Given the description of an element on the screen output the (x, y) to click on. 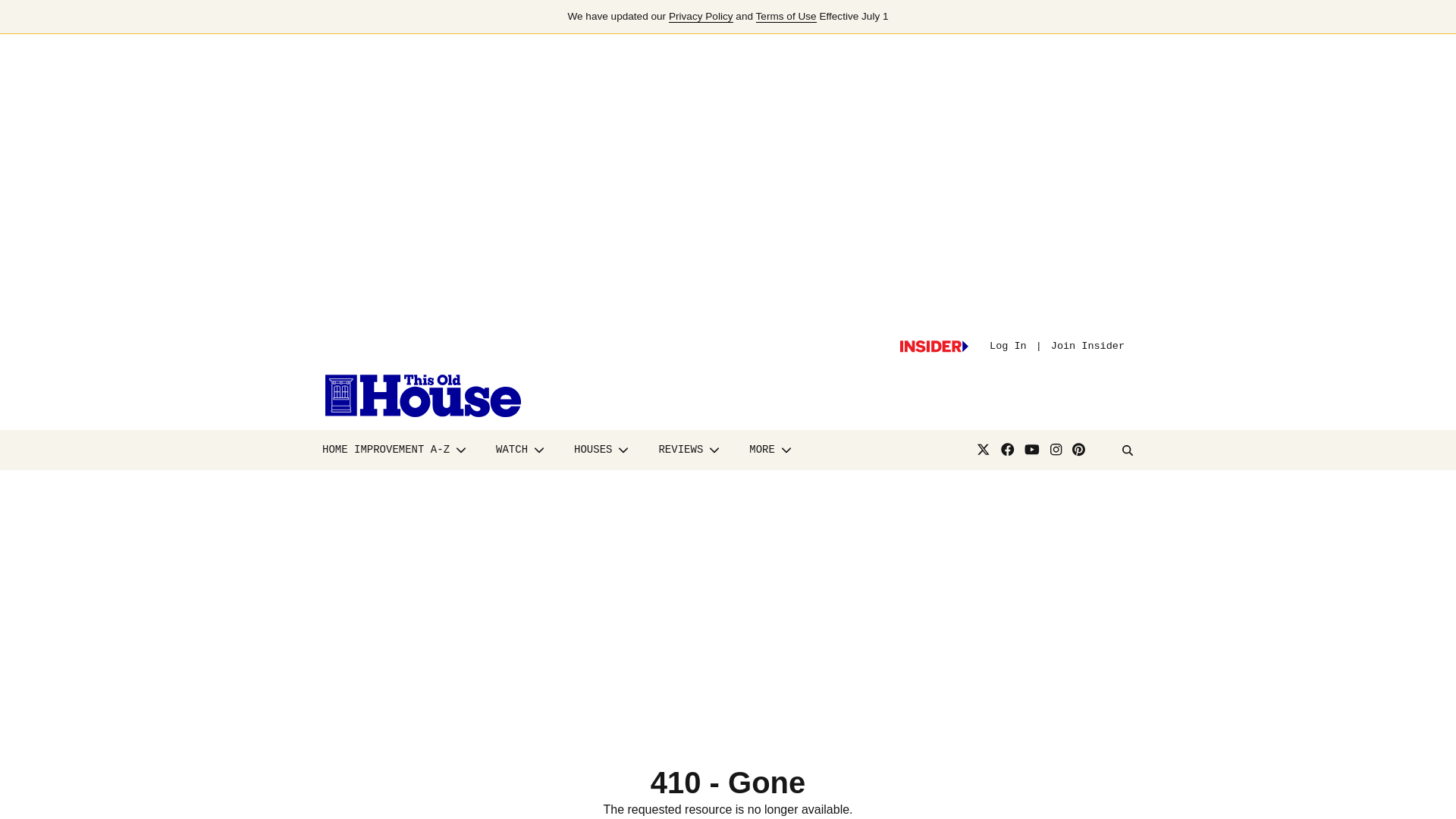
Join Insider (1087, 346)
Terms of Use (785, 16)
Log in or sign up (933, 346)
Log In (1008, 346)
Privacy Policy (700, 16)
